Given the description of an element on the screen output the (x, y) to click on. 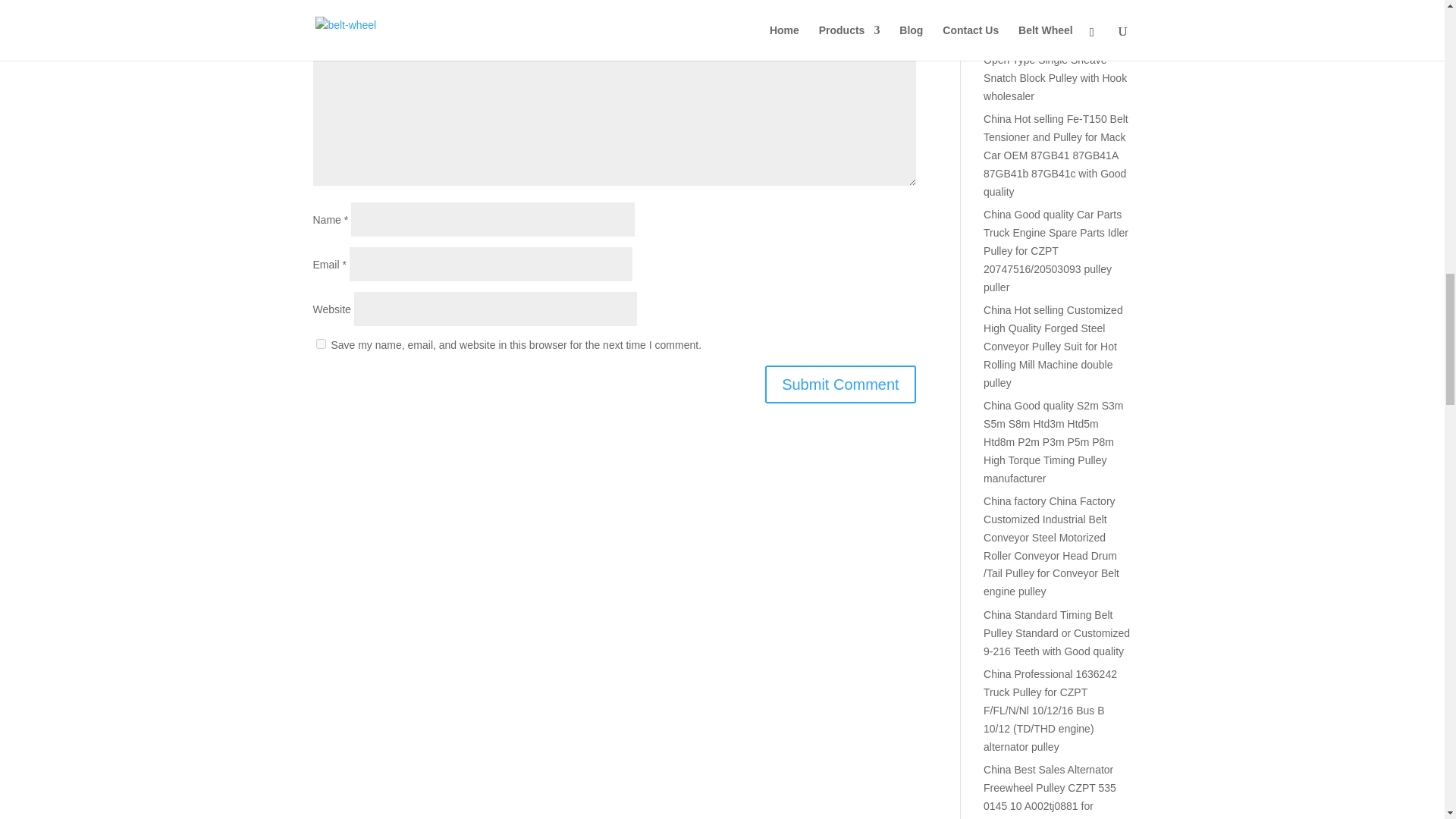
Submit Comment (840, 384)
Submit Comment (840, 384)
yes (319, 343)
